Given the description of an element on the screen output the (x, y) to click on. 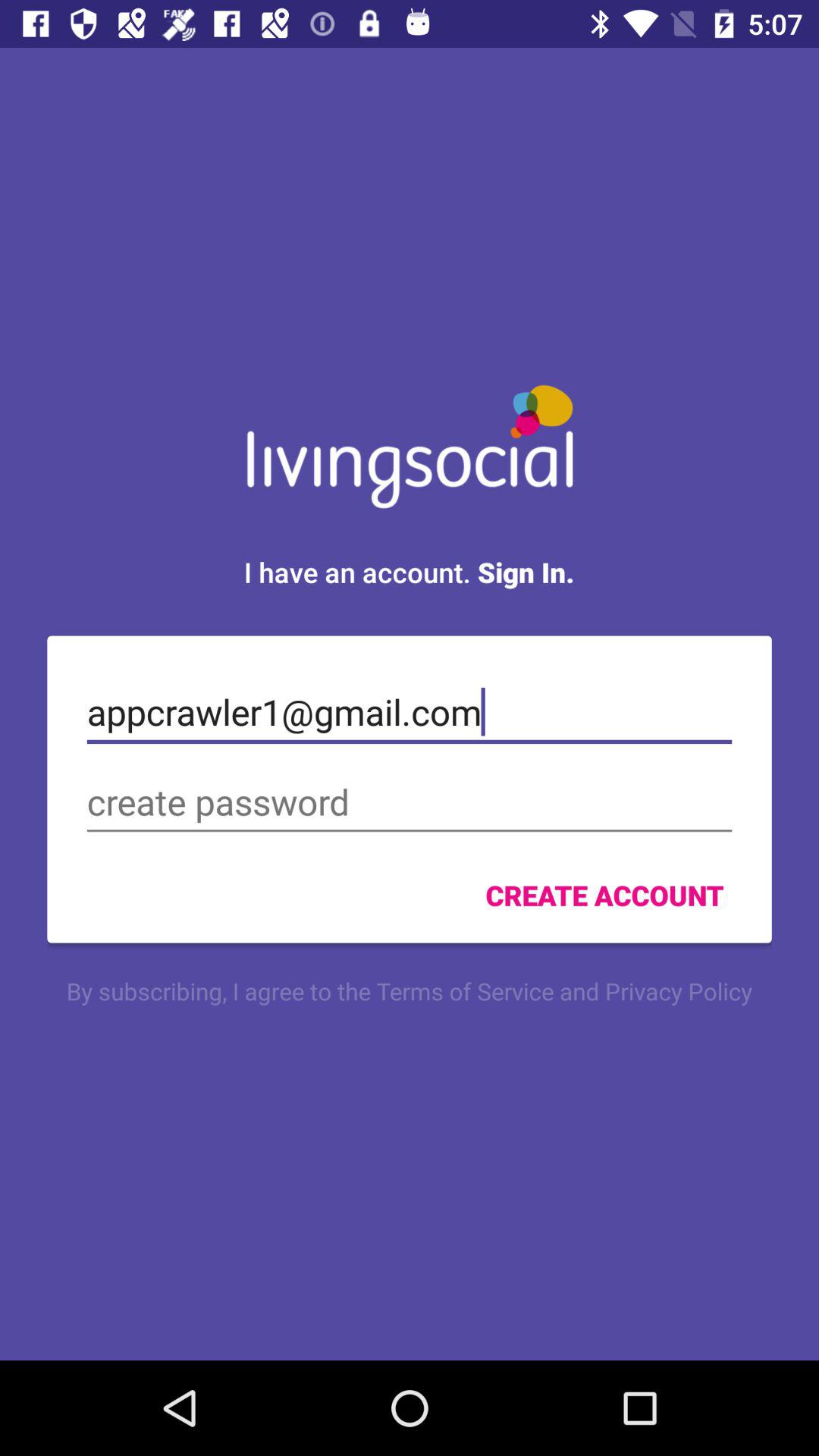
choose the item below the i have an (409, 712)
